Given the description of an element on the screen output the (x, y) to click on. 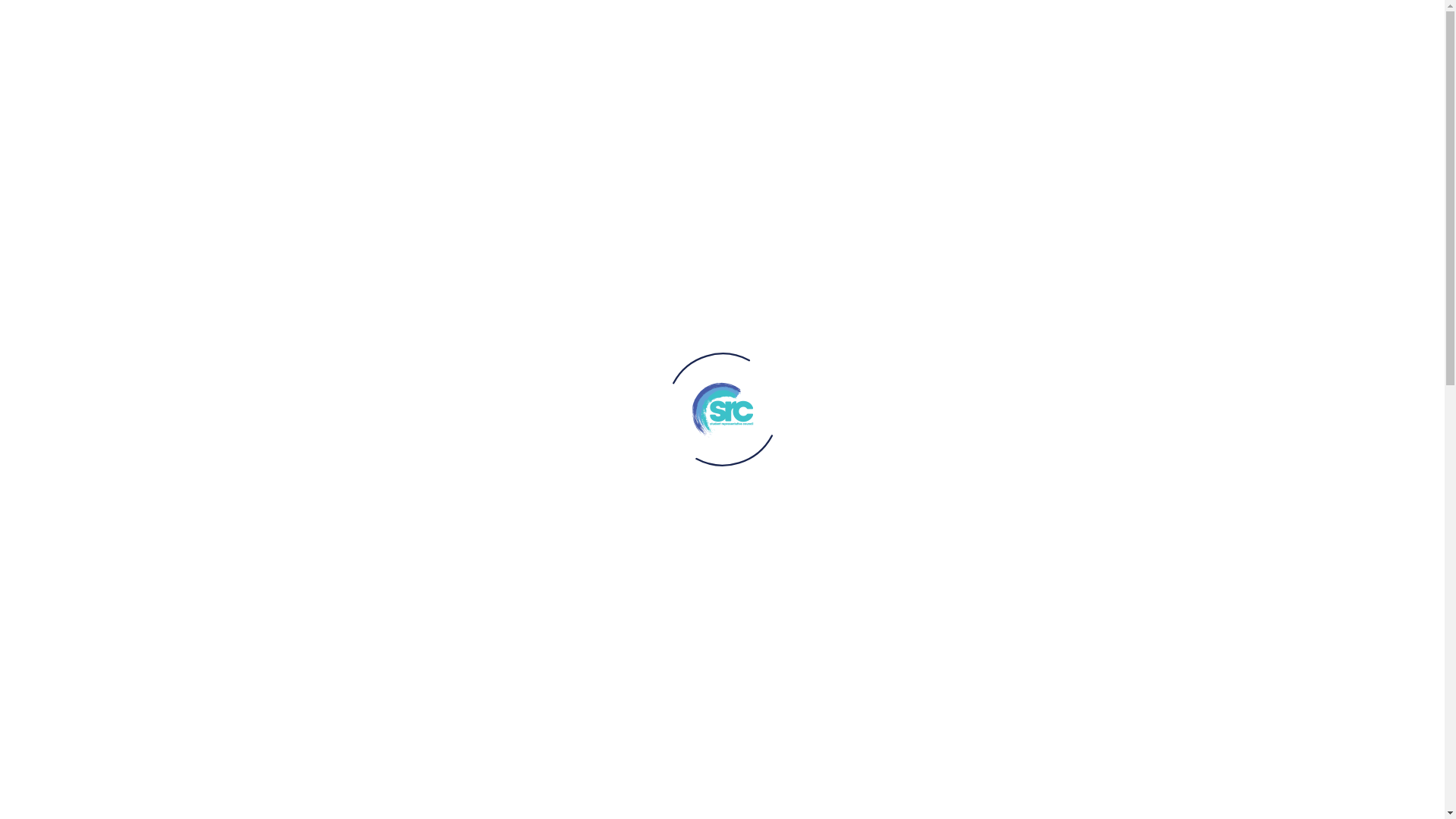
Campus Life Element type: text (989, 51)
Support Element type: text (942, 51)
About SRC Element type: text (1112, 51)
Courses Element type: text (1068, 51)
Contact Element type: text (1157, 51)
Apply for assistance here! Element type: text (749, 704)
Events Element type: text (1033, 51)
